Given the description of an element on the screen output the (x, y) to click on. 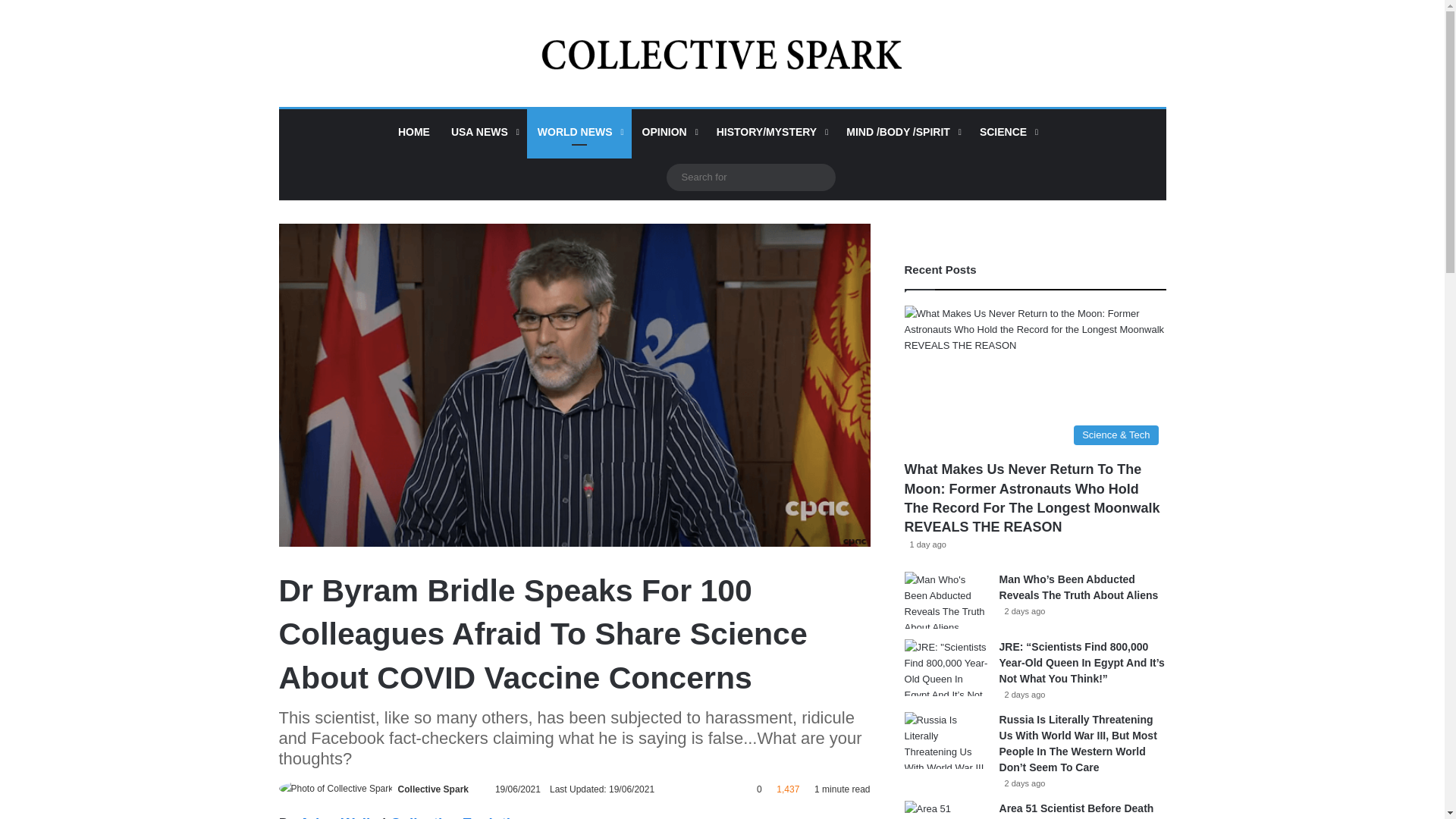
SCIENCE (1007, 131)
OPINION (668, 131)
WORLD NEWS (579, 131)
Collective Spark (432, 788)
Collective Spark (722, 53)
HOME (414, 131)
Search for (749, 176)
Collective Evolution (459, 816)
Arjun Walia (338, 816)
Collective Spark (432, 788)
